Given the description of an element on the screen output the (x, y) to click on. 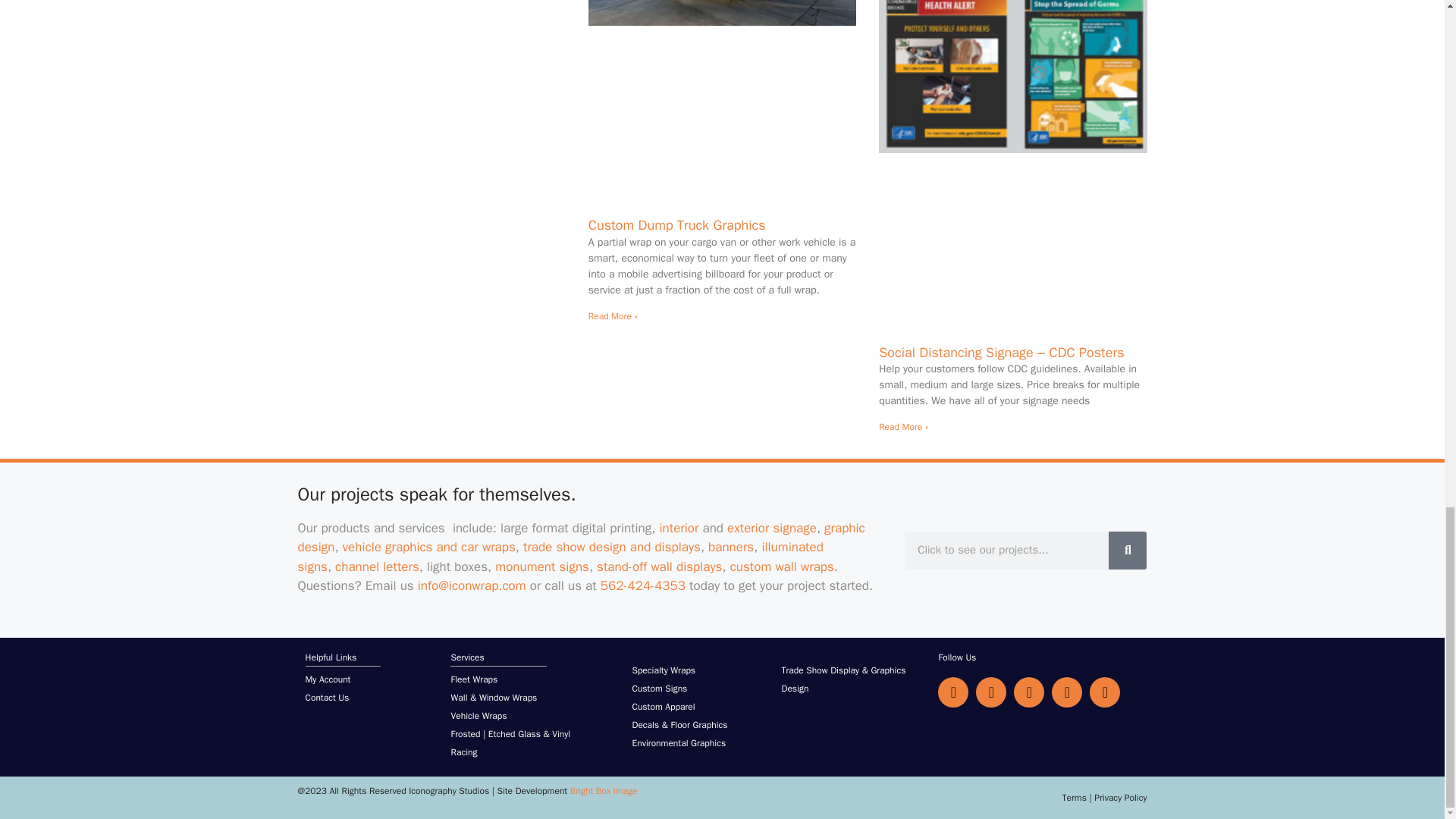
Banners (730, 546)
Channel Letters (376, 566)
Trade Show (611, 546)
Indoor (678, 528)
Illuminated (559, 556)
Design (580, 538)
Outdoor Signs (771, 528)
Vehicle Wraps (428, 546)
